Given the description of an element on the screen output the (x, y) to click on. 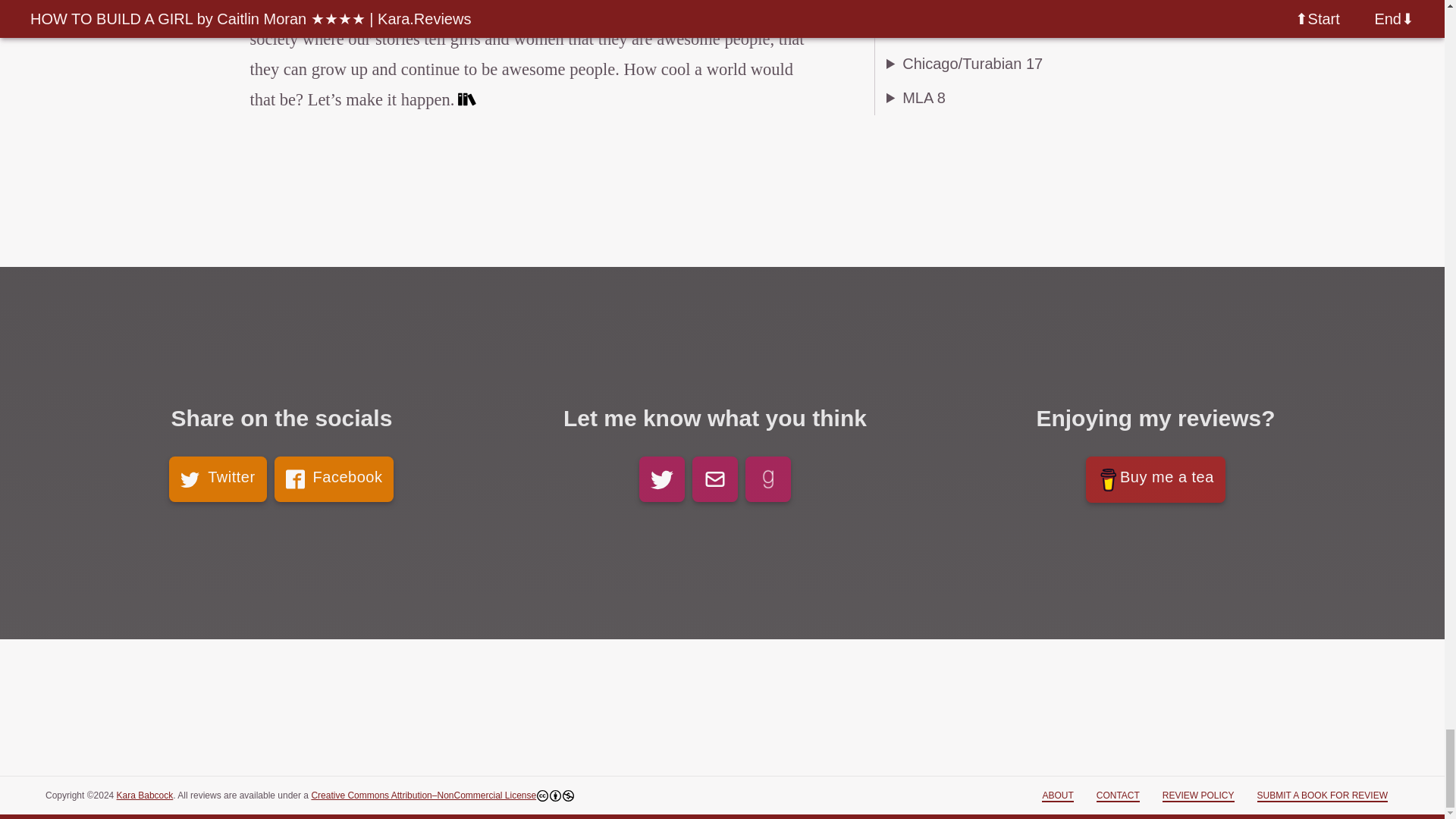
Twitter (217, 479)
Facebook (334, 479)
SUBMIT A BOOK FOR REVIEW (1322, 796)
CONTACT (1118, 796)
Email me (715, 479)
Kara Babcock (144, 795)
ABOUT (1057, 796)
Talk to me on Twitter (661, 479)
REVIEW POLICY (1197, 796)
Buy me a tea (1155, 479)
